Given the description of an element on the screen output the (x, y) to click on. 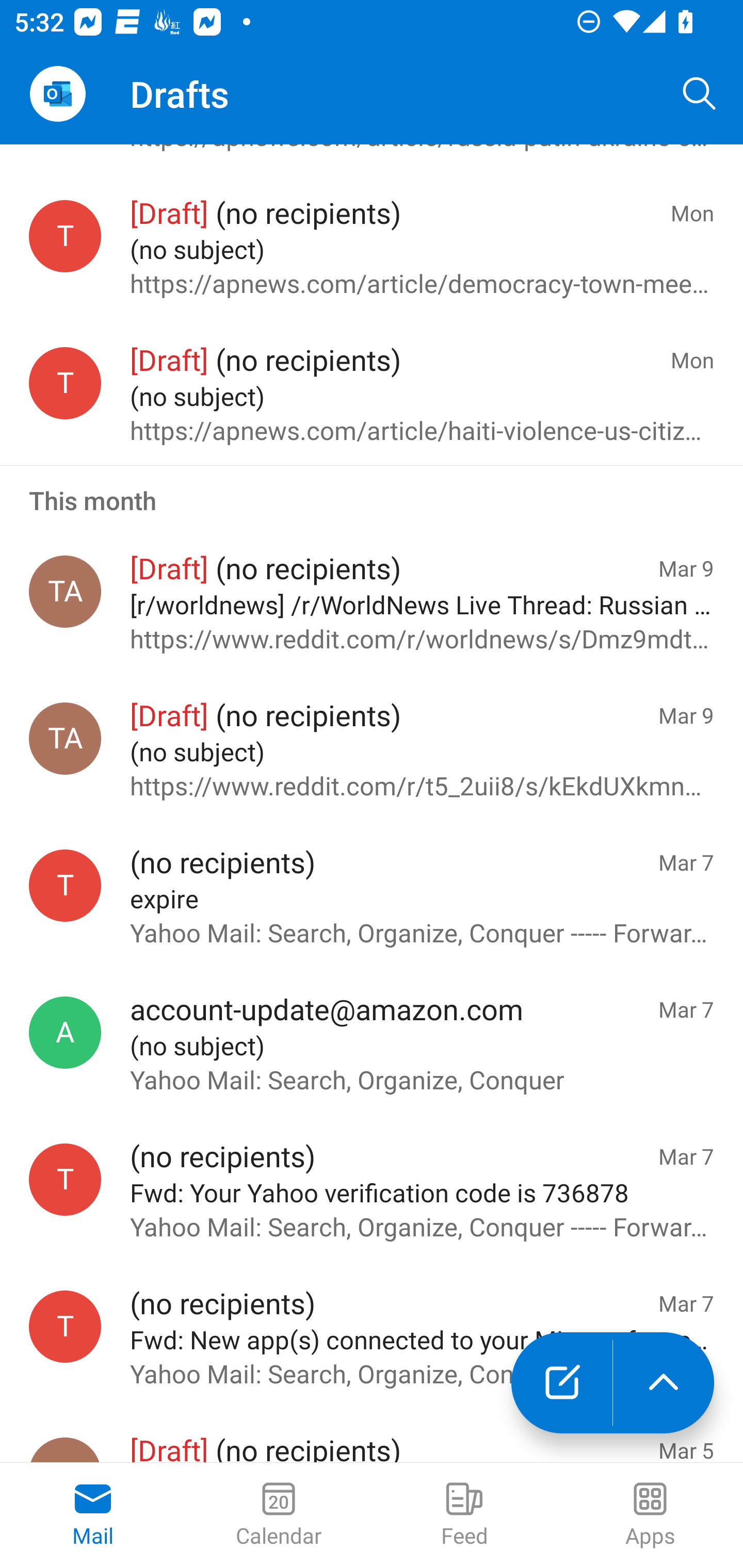
Search, ,  (699, 93)
Open Navigation Drawer (57, 94)
testappium002@outlook.com (64, 236)
testappium002@outlook.com (64, 382)
Test Appium, testappium002@outlook.com (64, 591)
Test Appium, testappium002@outlook.com (64, 738)
testappium002@outlook.com (64, 885)
testappium002@outlook.com (64, 1179)
testappium002@outlook.com (64, 1326)
New mail (561, 1382)
launch the extended action menu (663, 1382)
Calendar (278, 1515)
Feed (464, 1515)
Apps (650, 1515)
